Given the description of an element on the screen output the (x, y) to click on. 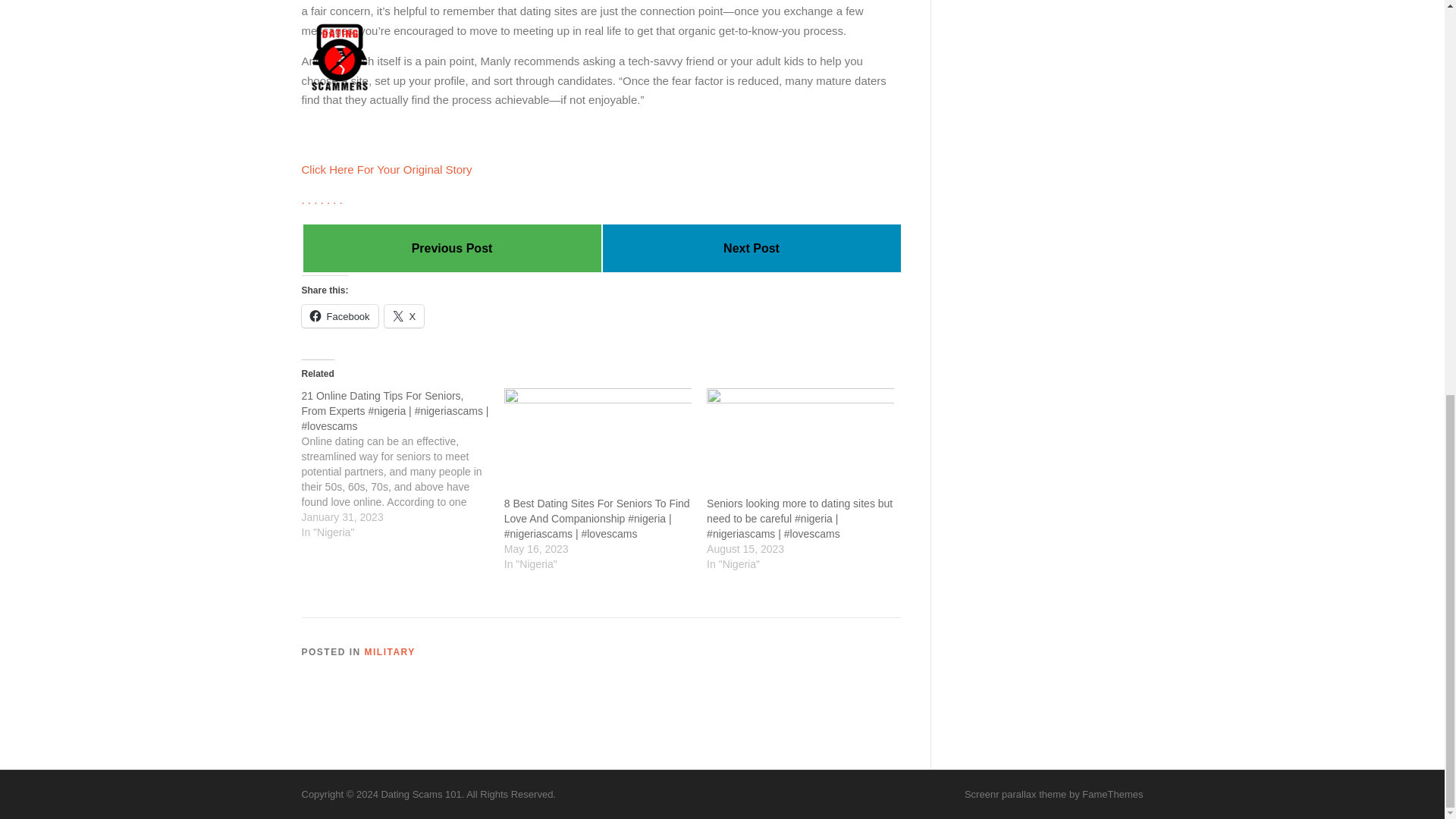
Next Post (750, 247)
Next Post (750, 247)
Click to share on Facebook (339, 315)
Click to share on X (404, 315)
X (404, 315)
Facebook (339, 315)
Previous Post (451, 247)
Previous Post (451, 247)
MILITARY (389, 652)
Click Here For Your Original Story (386, 169)
